Given the description of an element on the screen output the (x, y) to click on. 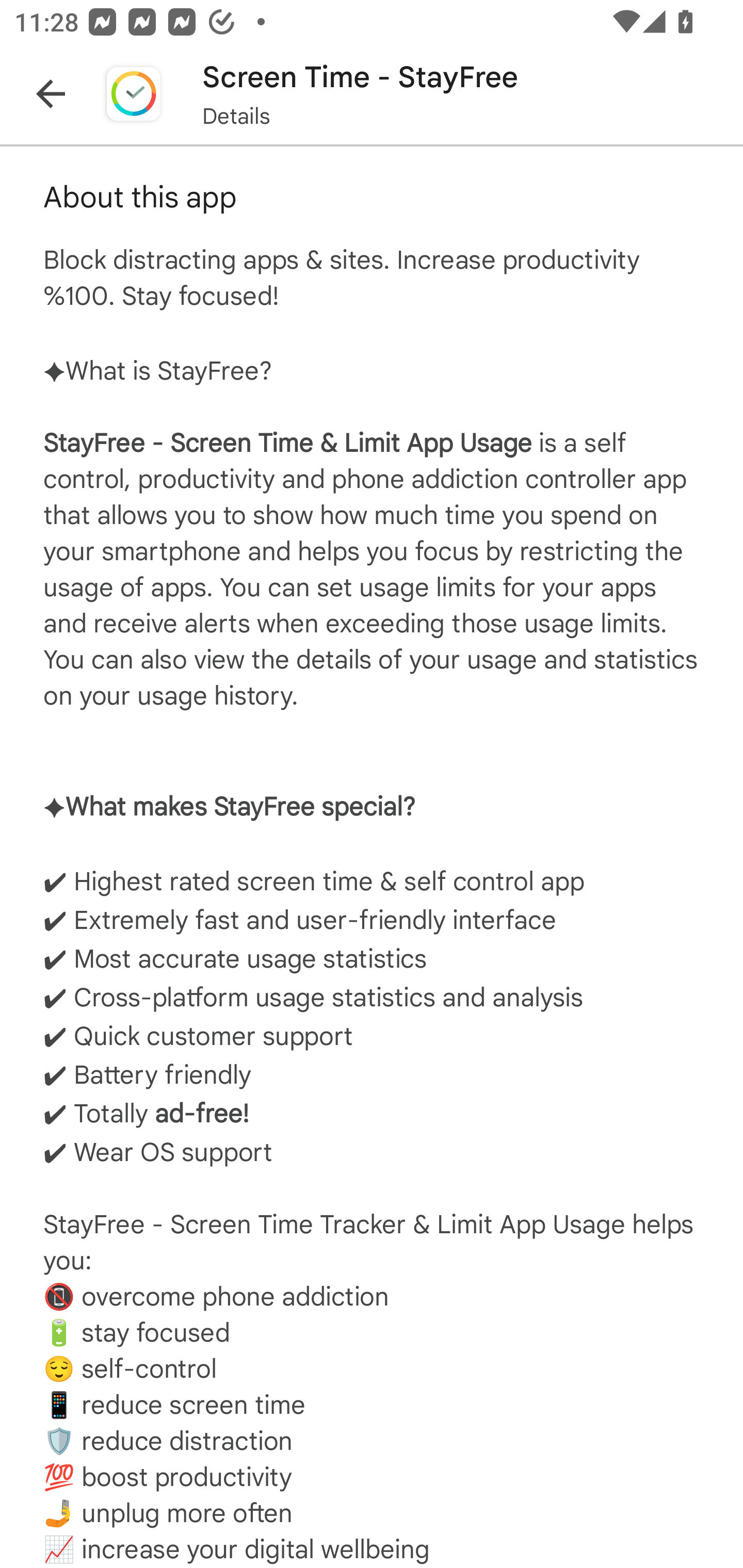
Navigate up (50, 93)
